Given the description of an element on the screen output the (x, y) to click on. 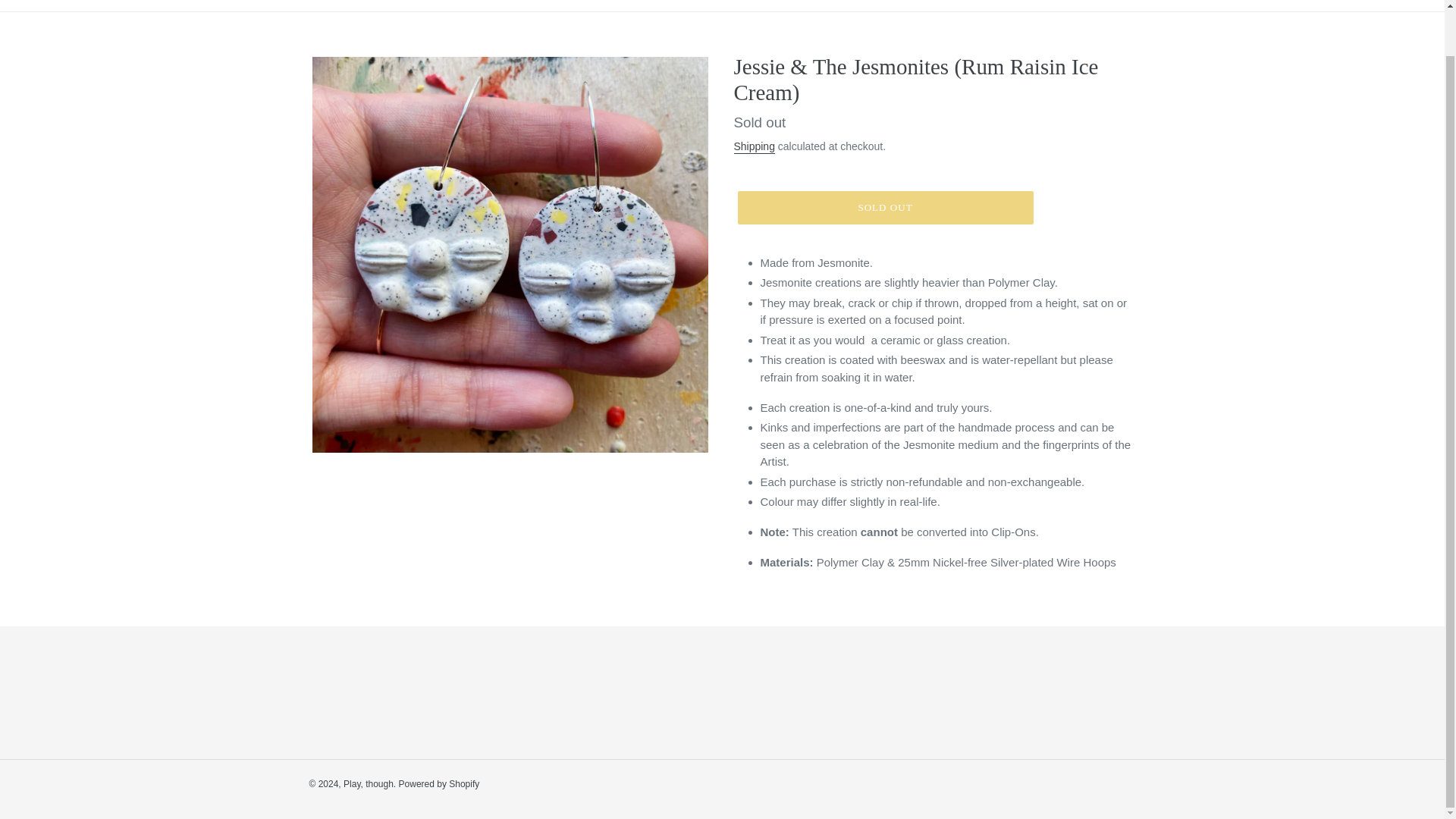
SOLD OUT (884, 207)
Shipping (753, 146)
Play, though. (370, 783)
Powered by Shopify (439, 783)
